Given the description of an element on the screen output the (x, y) to click on. 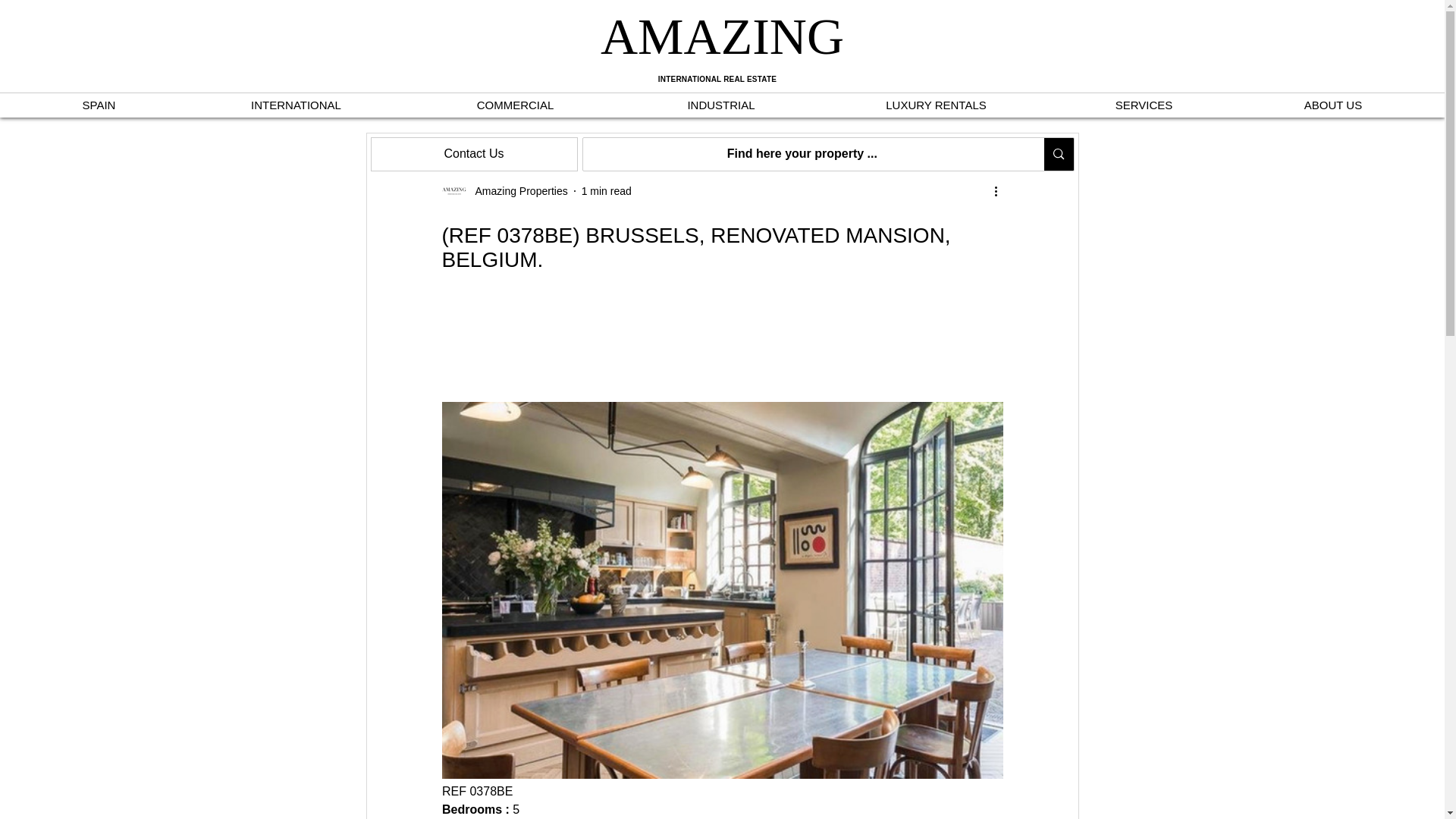
1 min read (605, 191)
Amazing Properties (504, 191)
SERVICES (1143, 104)
Amazing Properties (516, 191)
ABOUT US (1332, 104)
